Given the description of an element on the screen output the (x, y) to click on. 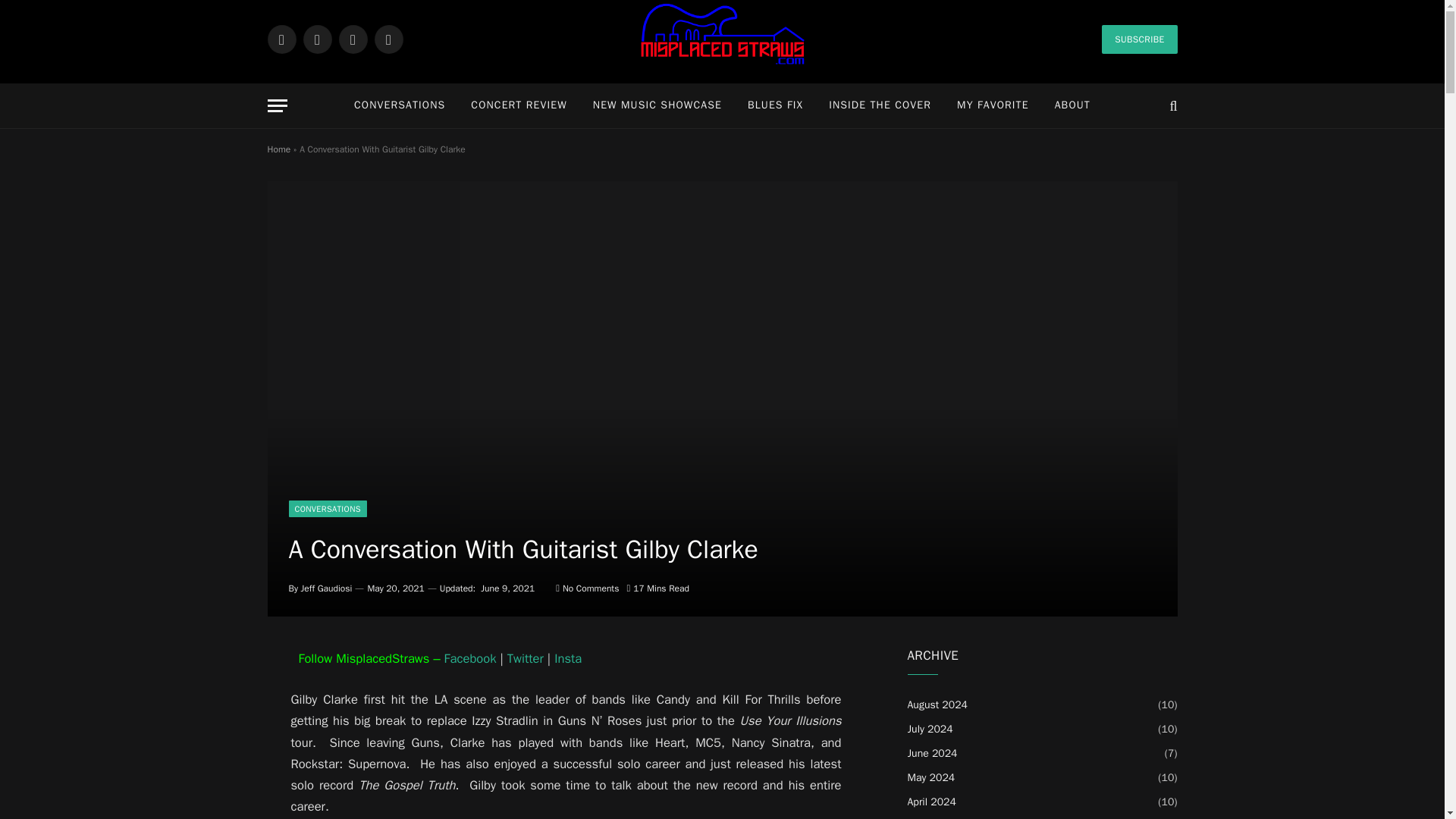
MisplacedStraws (722, 59)
CONCERT REVIEW (518, 105)
SUBSCRIBE (1139, 39)
NEW MUSIC SHOWCASE (657, 105)
ABOUT (1072, 105)
CONVERSATIONS (327, 508)
BLUES FIX (775, 105)
Instagram (351, 39)
Jeff Gaudiosi (326, 588)
